Given the description of an element on the screen output the (x, y) to click on. 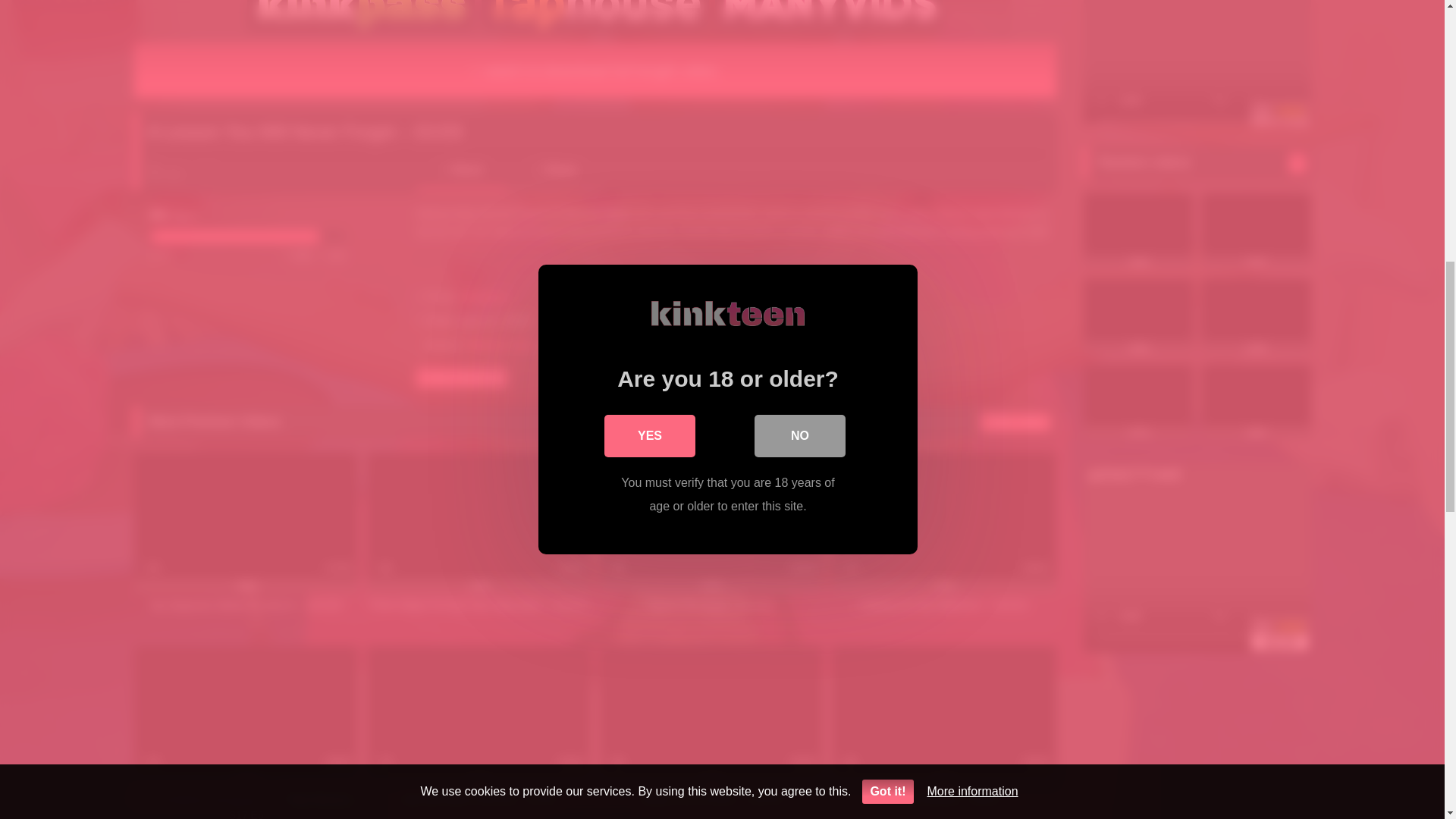
I like this (174, 171)
Moms Teach Sex (461, 376)
kinkpass (484, 296)
Nadia Styles (578, 345)
Share (556, 175)
Like (174, 171)
Posts by kinkpass (484, 296)
Nadia Styles (578, 345)
Moms Teach Sex (461, 376)
Melissa May (499, 345)
I dislike this (207, 171)
Melissa May (499, 345)
Read more (732, 271)
About (461, 175)
